Given the description of an element on the screen output the (x, y) to click on. 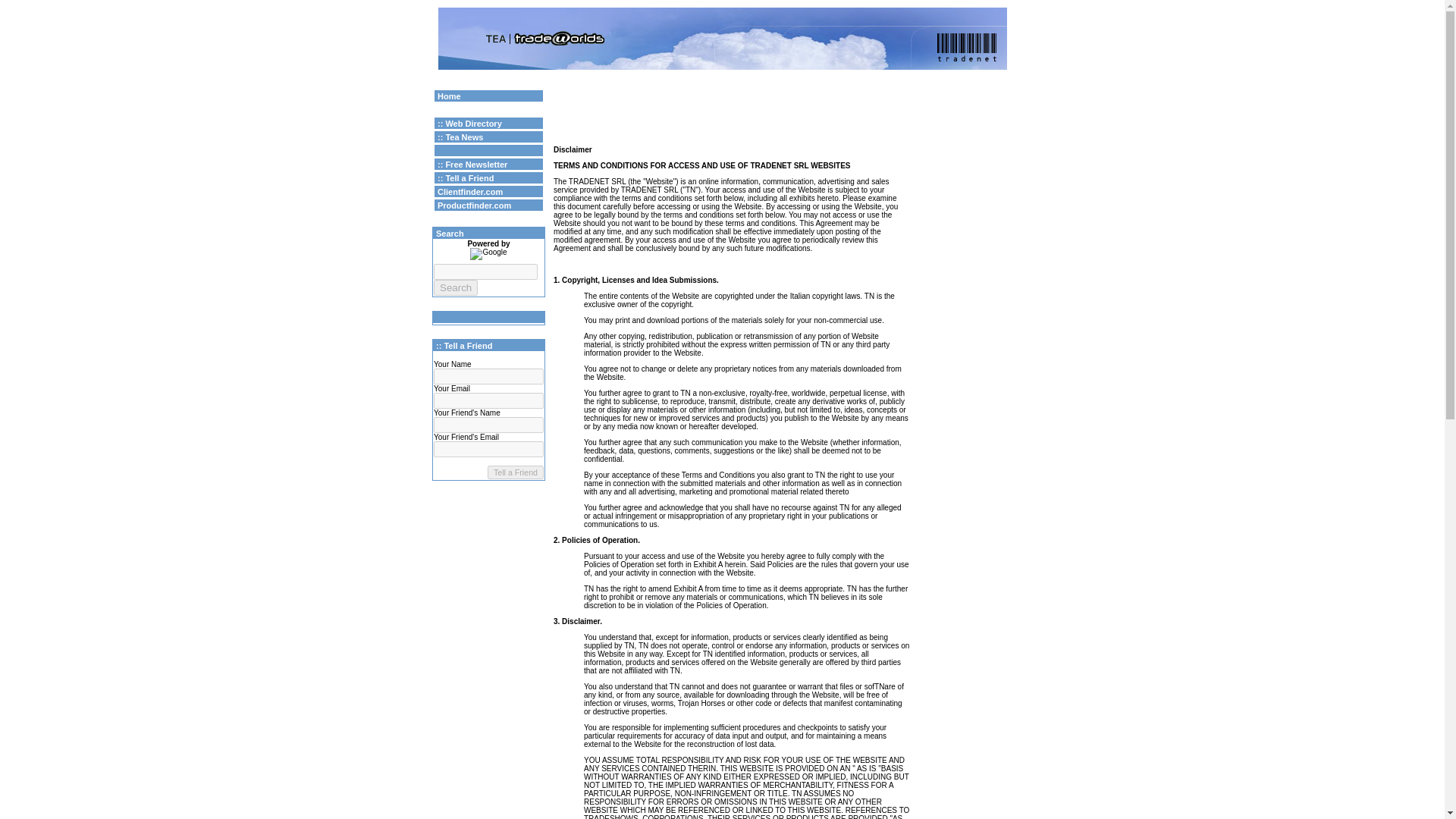
Clientfinder.com (470, 190)
:: Web Directory (470, 122)
Advertisement (731, 110)
Tell a Friend (515, 472)
Search (455, 287)
Google (935, 93)
Search (455, 287)
:: Free Newsletter (472, 163)
:: Tell a Friend (465, 176)
Advertisement (965, 328)
Productfinder.com (474, 204)
:: Tea News (460, 135)
Tell a Friend (515, 472)
Home (449, 94)
